Given the description of an element on the screen output the (x, y) to click on. 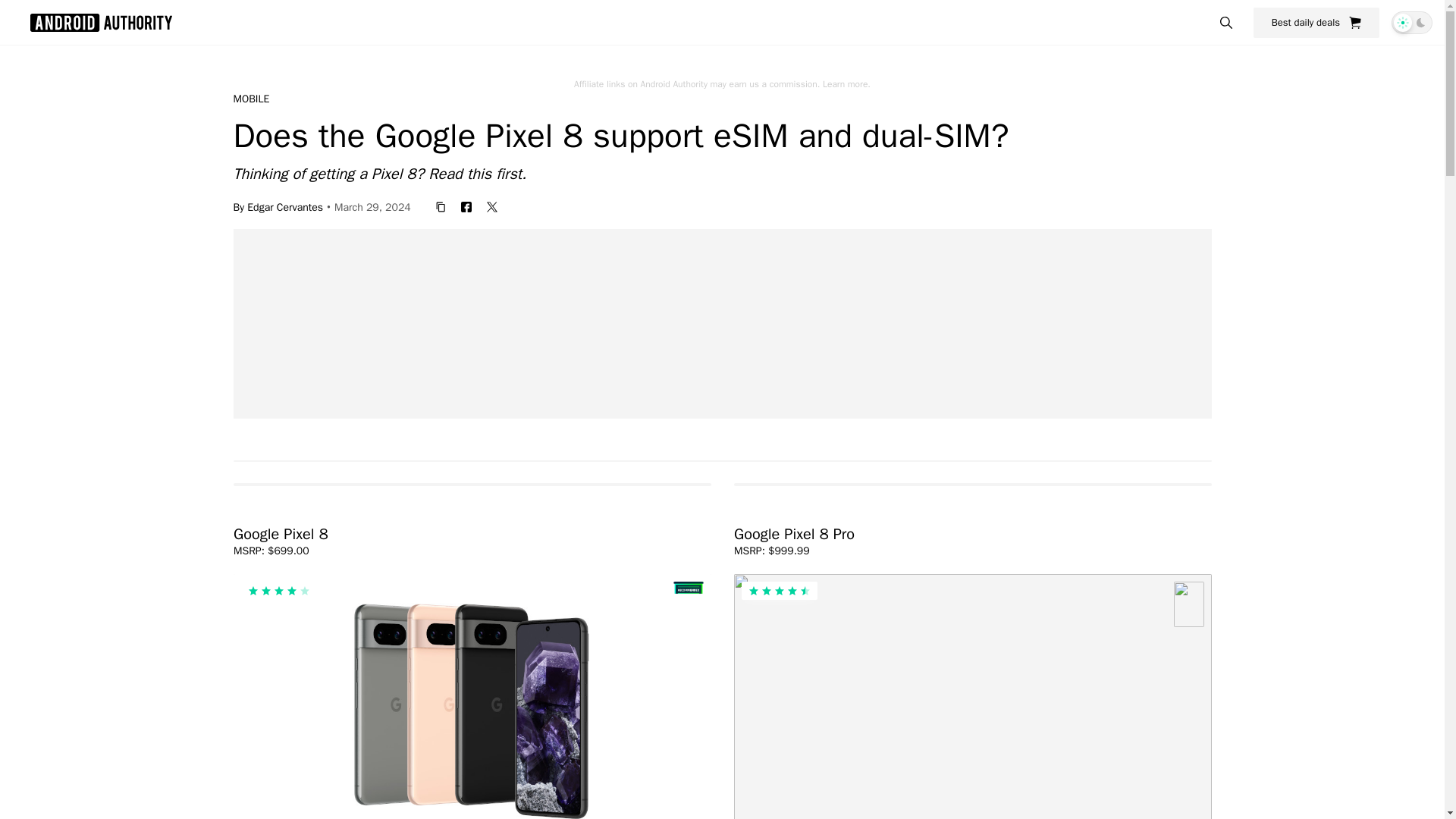
Edgar Cervantes (285, 206)
Best daily deals (1315, 22)
twitter (492, 207)
Learn more. (846, 83)
MOBILE (250, 98)
facebook (465, 207)
